Given the description of an element on the screen output the (x, y) to click on. 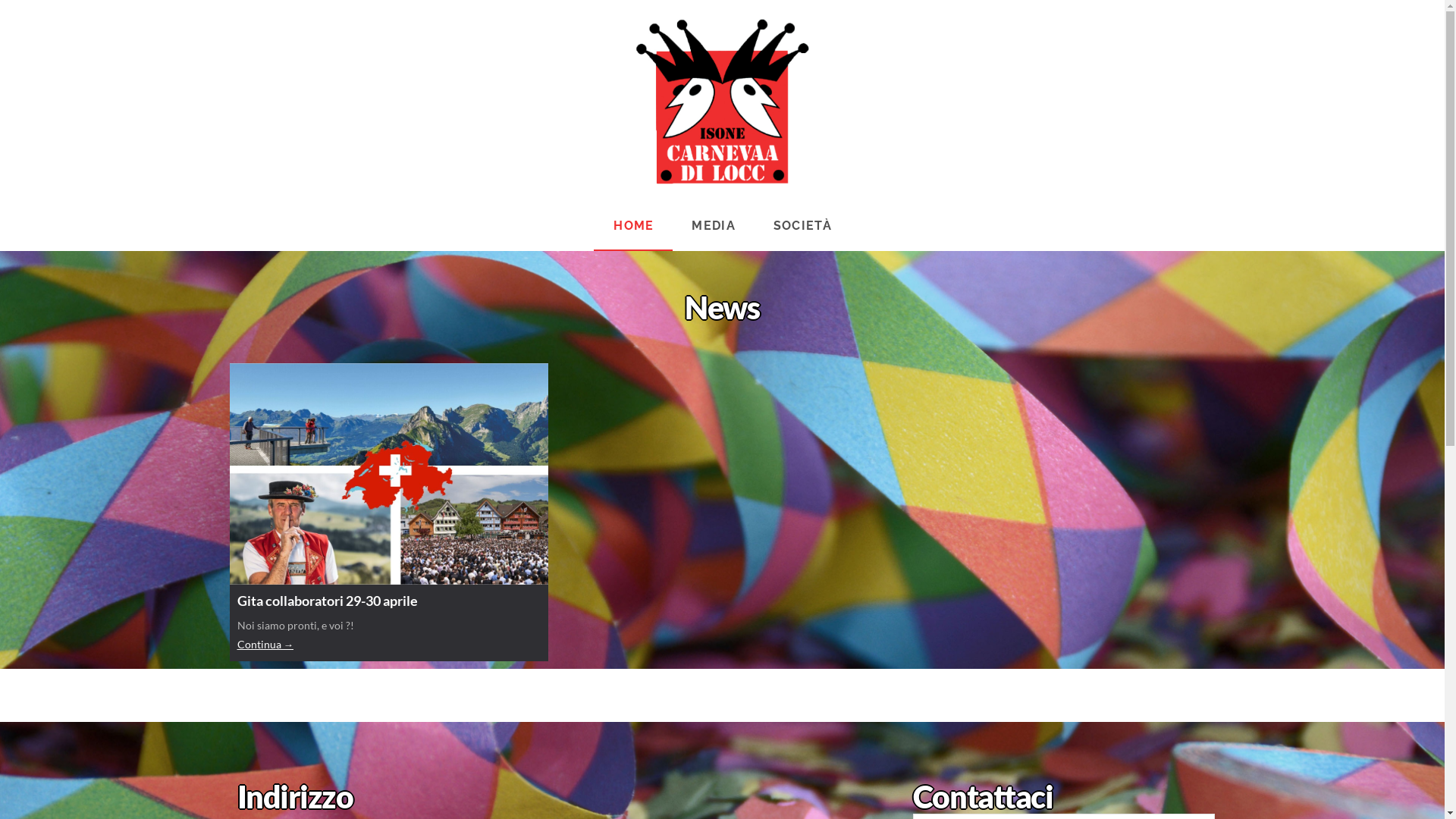
MEDIA Element type: text (712, 226)
HOME Element type: text (632, 226)
Gita collaboratori 29-30 aprile Element type: text (388, 600)
Carnevale di Isone Element type: hover (722, 101)
